Given the description of an element on the screen output the (x, y) to click on. 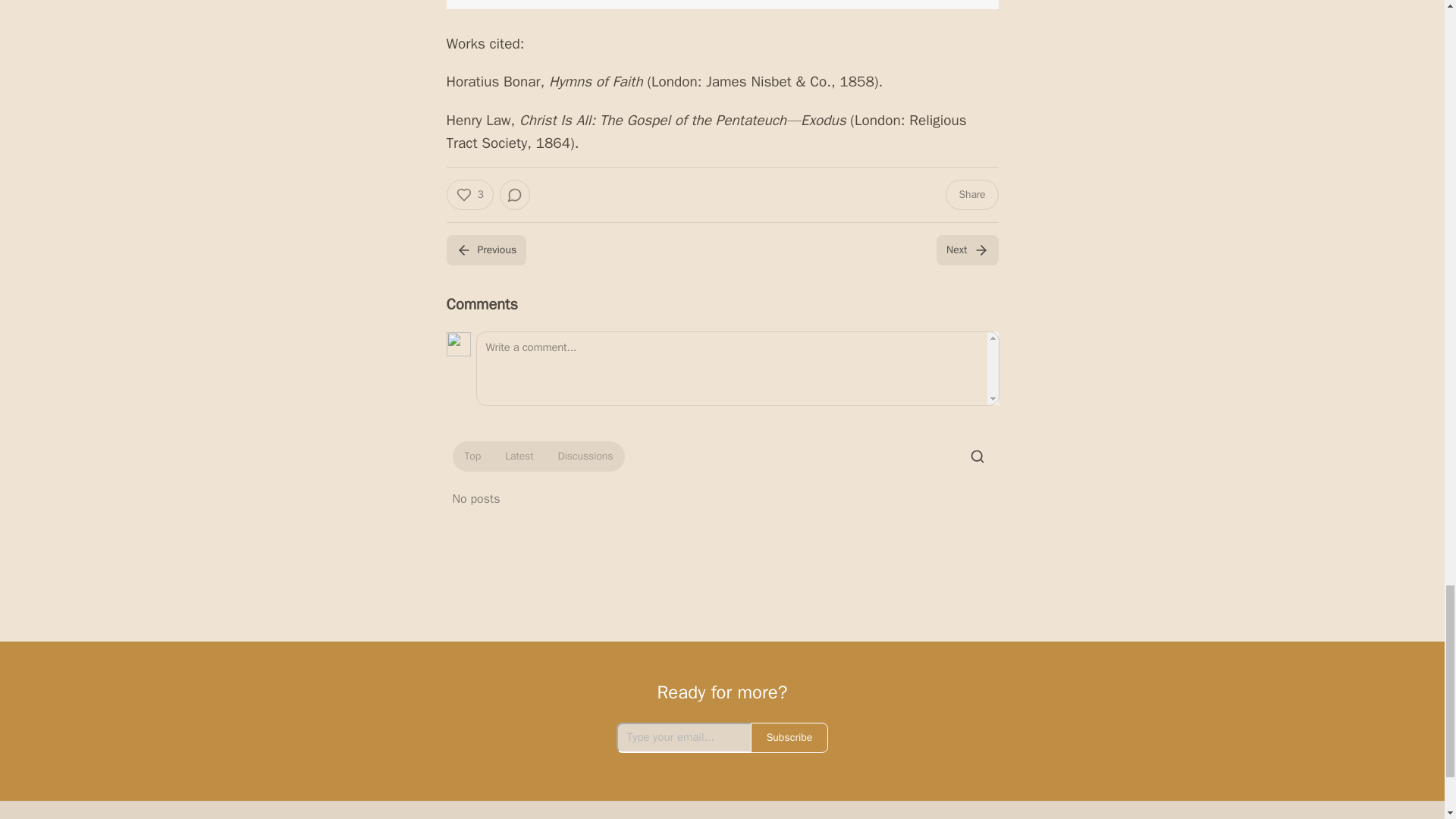
Subscribe (789, 737)
Share (970, 194)
3 (469, 194)
Latest (518, 456)
Discussions (585, 456)
Next (966, 250)
Previous (485, 250)
Top (471, 456)
